Given the description of an element on the screen output the (x, y) to click on. 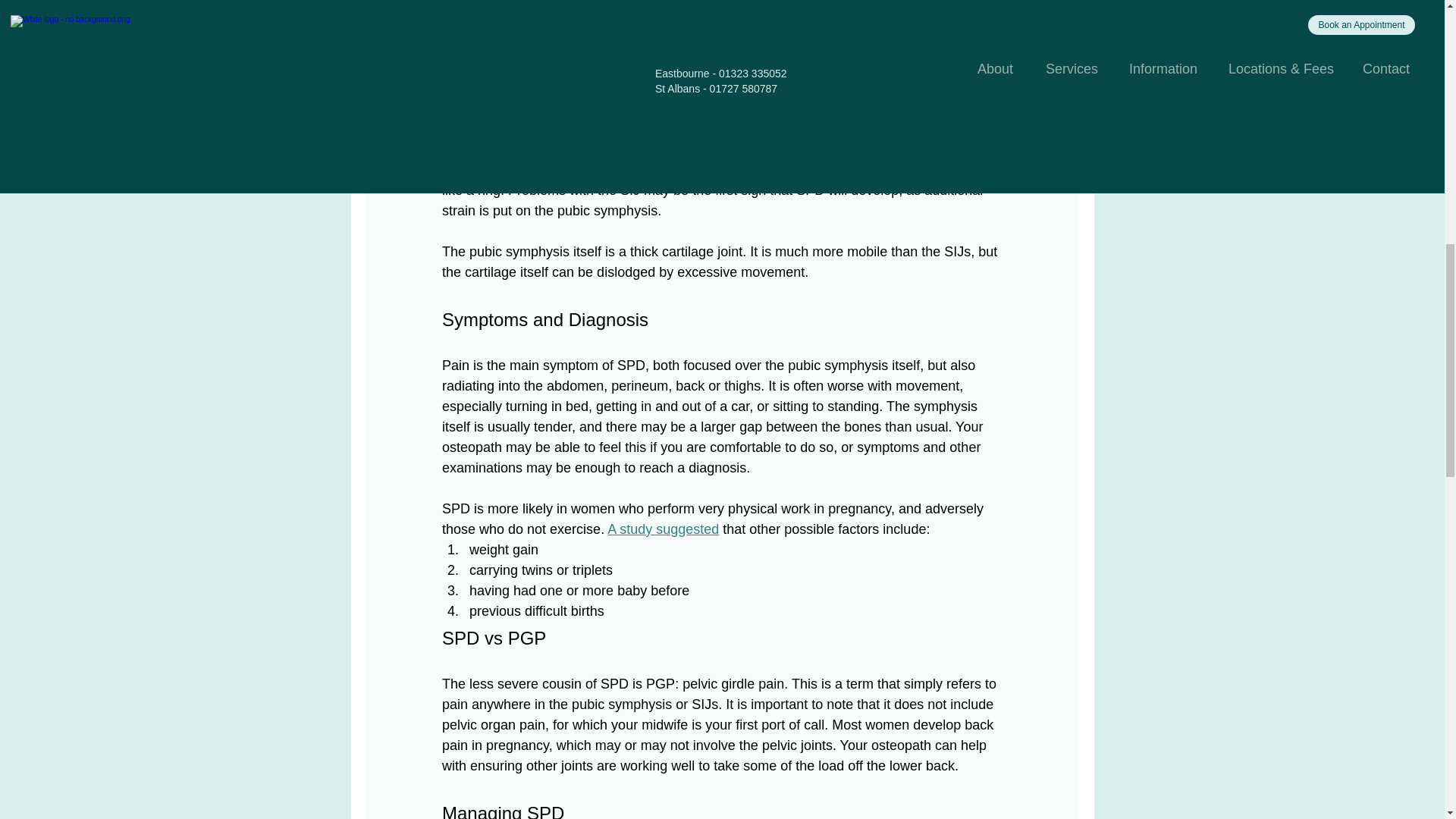
the SIJs (938, 149)
A study suggested (663, 529)
